Given the description of an element on the screen output the (x, y) to click on. 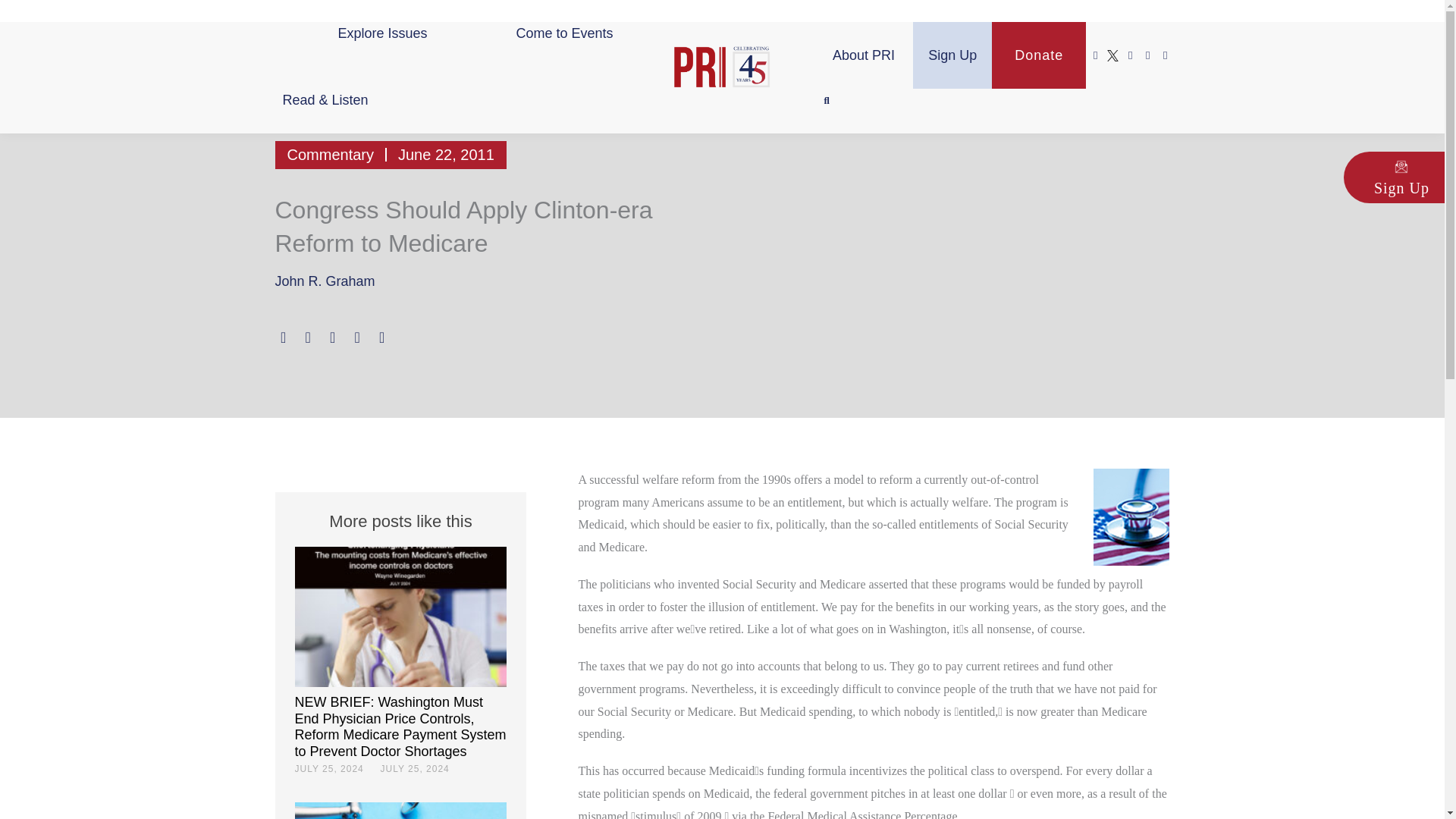
Come to Events (563, 33)
Explore Issues (381, 33)
